Given the description of an element on the screen output the (x, y) to click on. 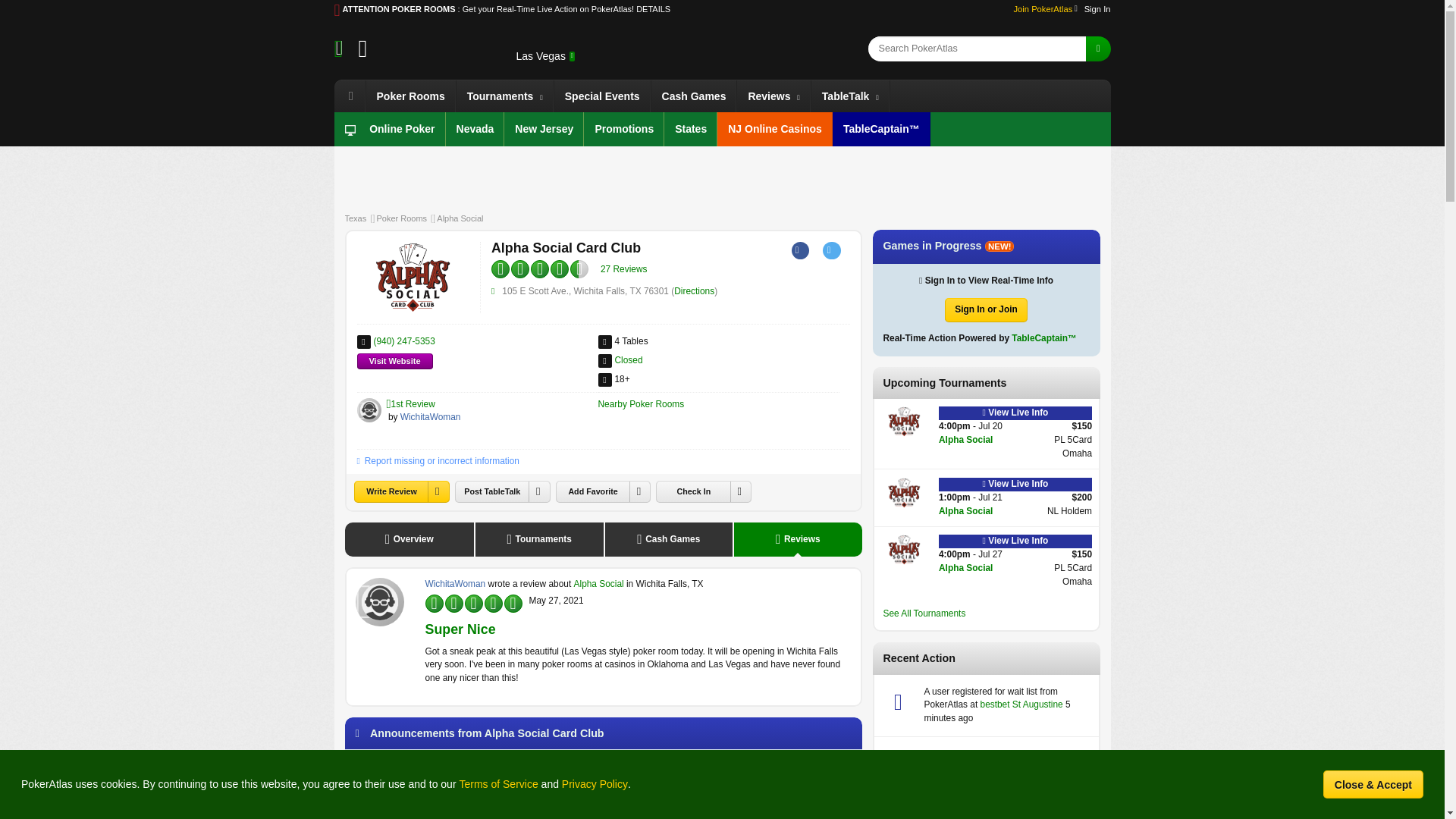
Las Vegas (544, 55)
2 (453, 601)
Nevada (476, 128)
4 (453, 601)
Join PokerAtlas (1045, 9)
5 (453, 601)
2 (519, 266)
: Get your Real-Time Live Action on PokerAtlas! DETAILS (564, 8)
1 (519, 266)
3 (519, 266)
3 (453, 601)
Current Location (539, 55)
Poker Rooms (409, 96)
Cash Games (693, 96)
Sign In (1094, 9)
